Given the description of an element on the screen output the (x, y) to click on. 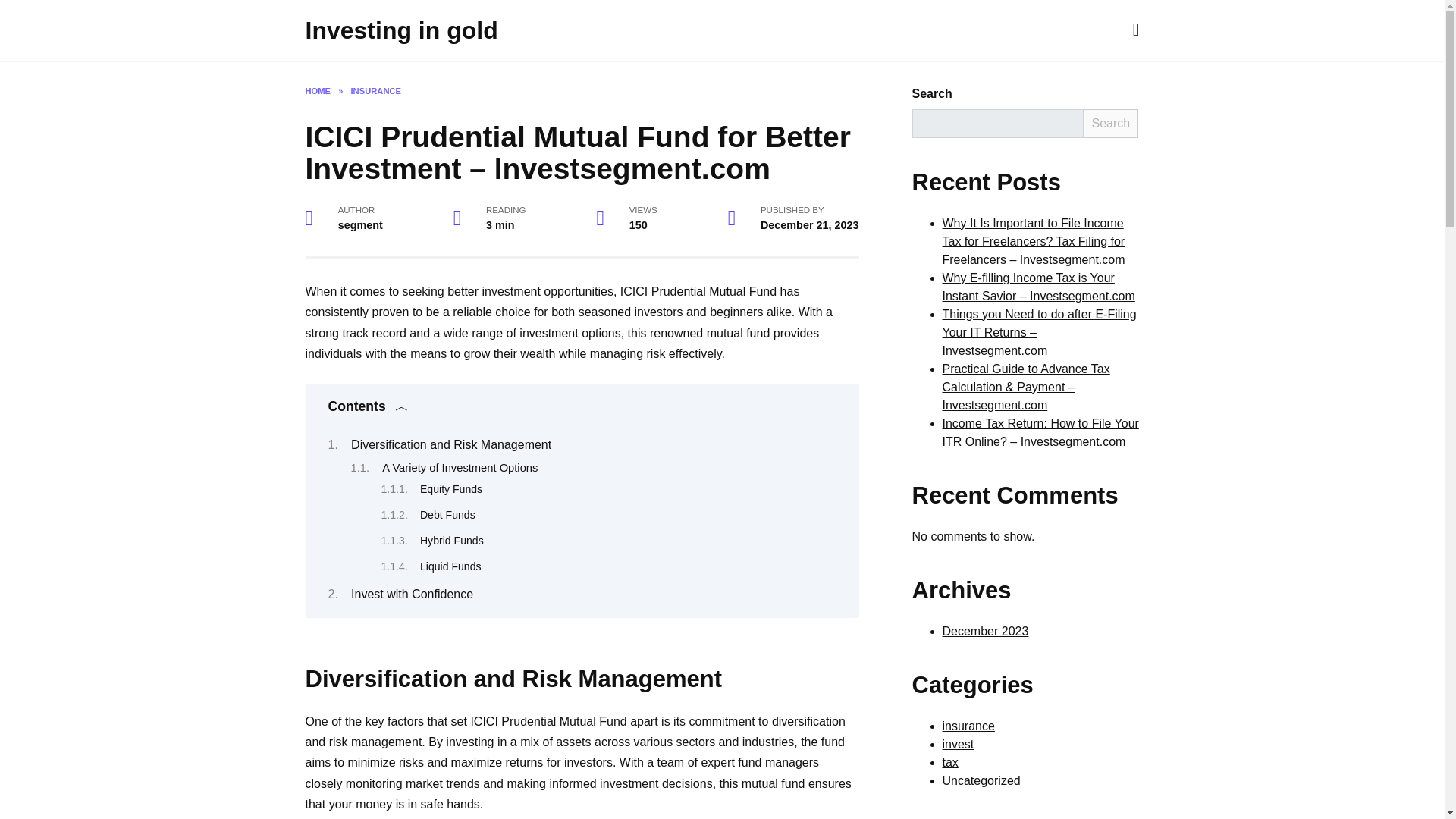
Equity Funds (450, 489)
insurance (968, 725)
Liquid Funds (450, 566)
Diversification and Risk Management (450, 444)
Search (1110, 123)
Hybrid Funds (451, 540)
Invest with Confidence (411, 594)
invest (958, 744)
INSURANCE (375, 90)
December 2023 (984, 631)
A Variety of Investment Options (459, 467)
tax (950, 762)
Debt Funds (448, 514)
Investing in gold (400, 30)
Uncategorized (981, 780)
